Given the description of an element on the screen output the (x, y) to click on. 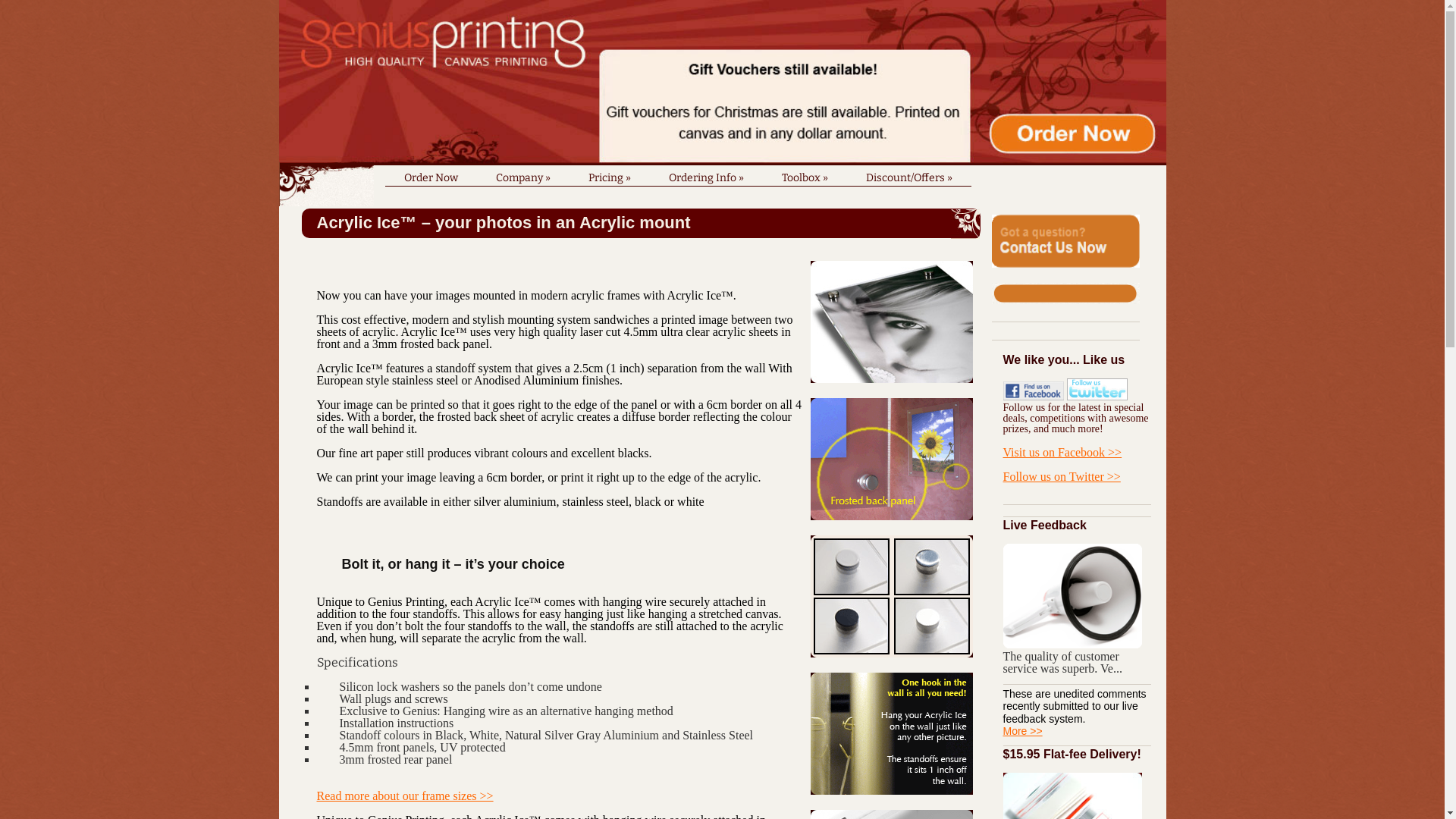
Visit us on Facebook >> Element type: text (1061, 451)
Discount/Offers Element type: text (908, 172)
Follow us on Twitter >> Element type: text (1061, 476)
Order Now Element type: text (430, 172)
Read more about our frame sizes >> Element type: text (404, 795)
Pricing Element type: text (608, 172)
Ordering Info Element type: text (705, 172)
More >> Element type: text (1021, 730)
Toolbox Element type: text (804, 172)
Company Element type: text (522, 172)
